Given the description of an element on the screen output the (x, y) to click on. 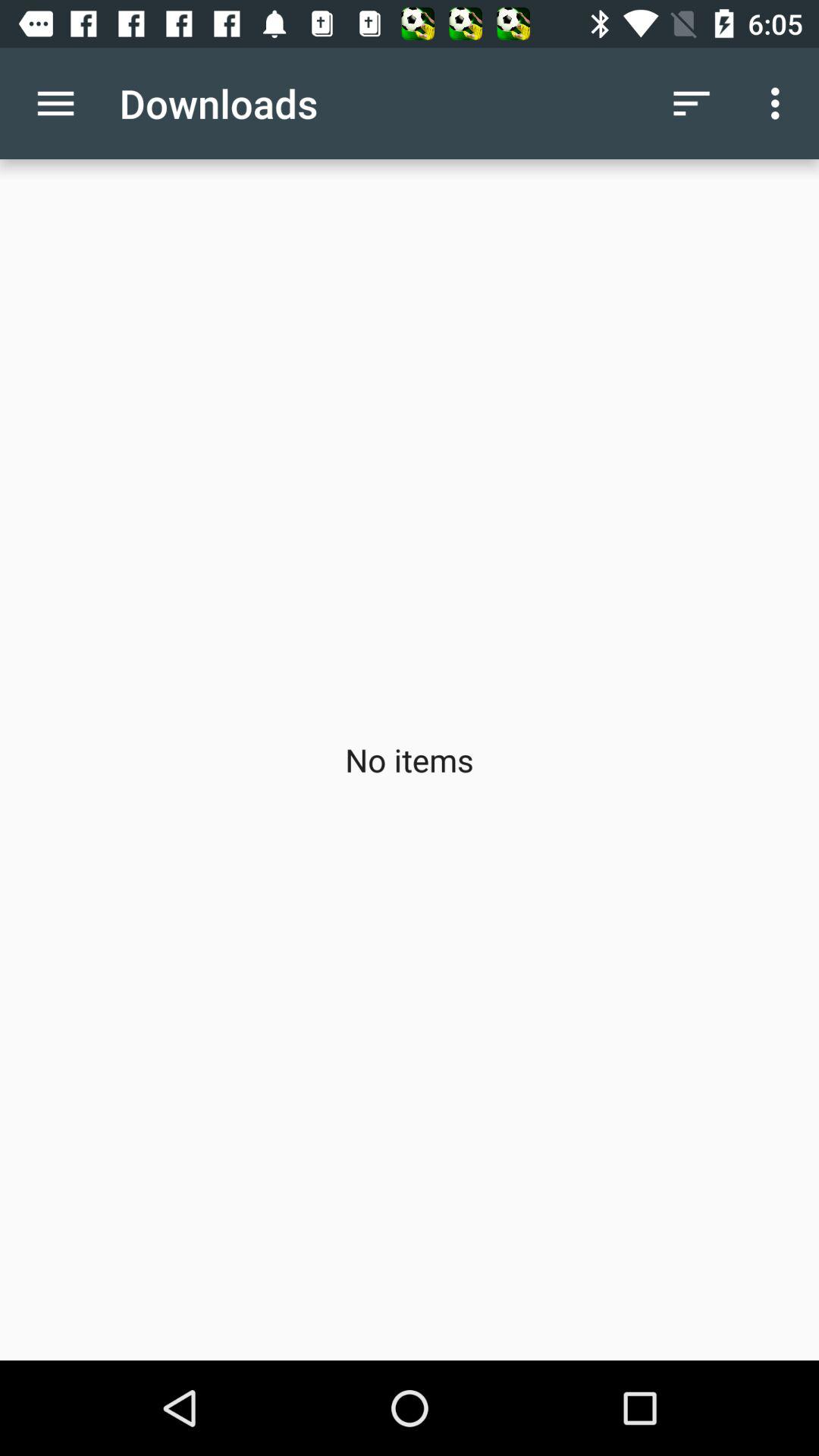
open app above no items icon (779, 103)
